Given the description of an element on the screen output the (x, y) to click on. 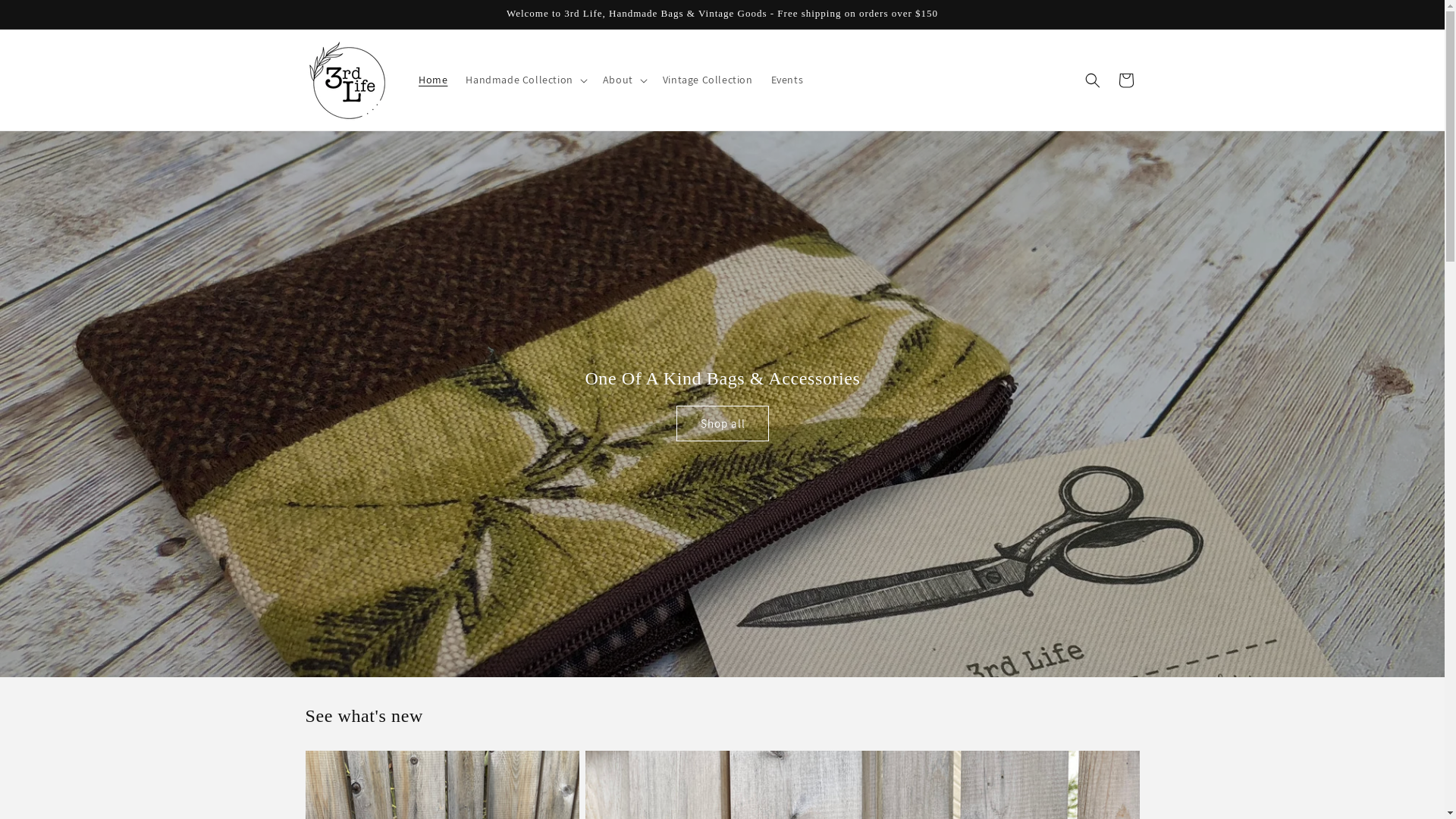
Shop all Element type: text (722, 423)
Home Element type: text (432, 79)
Cart Element type: text (1125, 80)
Events Element type: text (787, 79)
Vintage Collection Element type: text (707, 79)
